Given the description of an element on the screen output the (x, y) to click on. 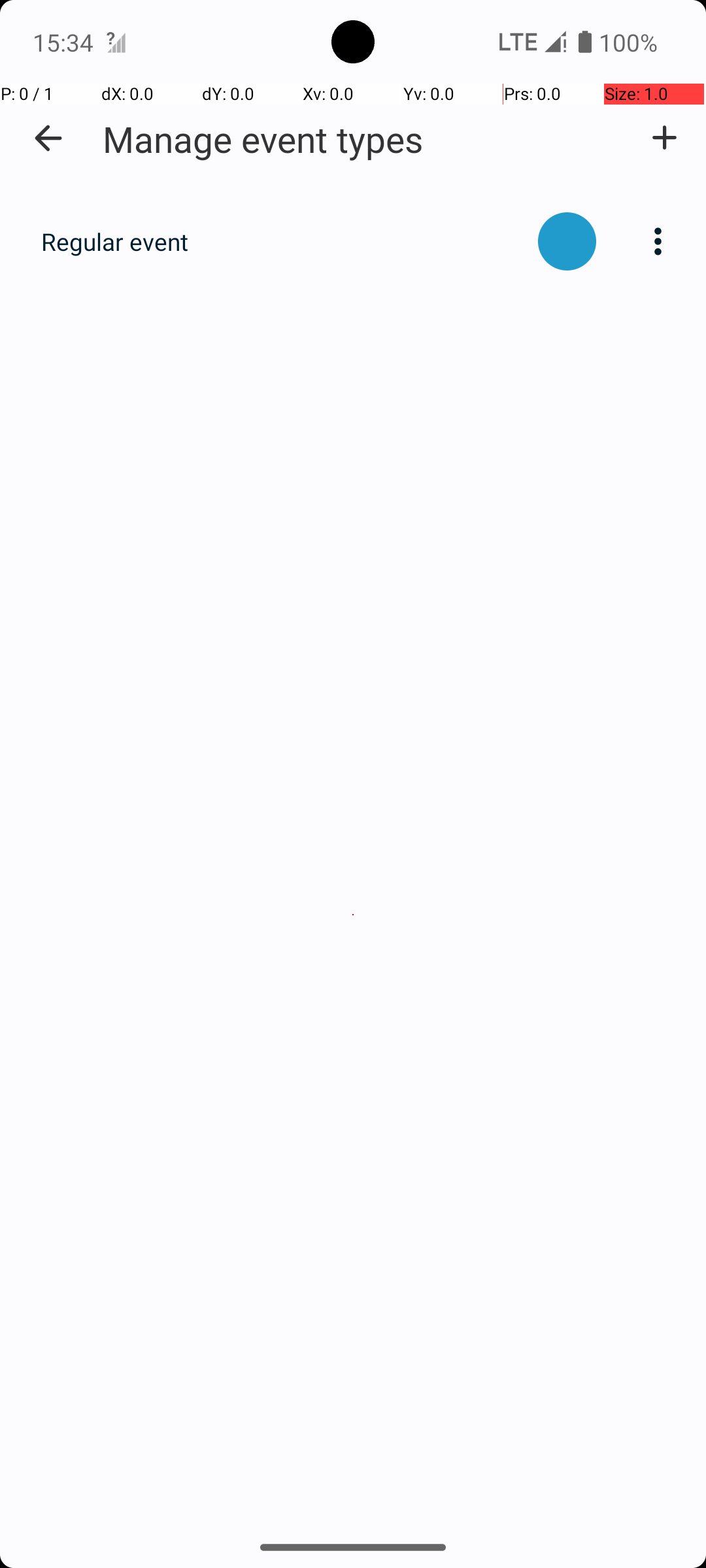
Add a new type Element type: android.widget.Button (664, 137)
